Given the description of an element on the screen output the (x, y) to click on. 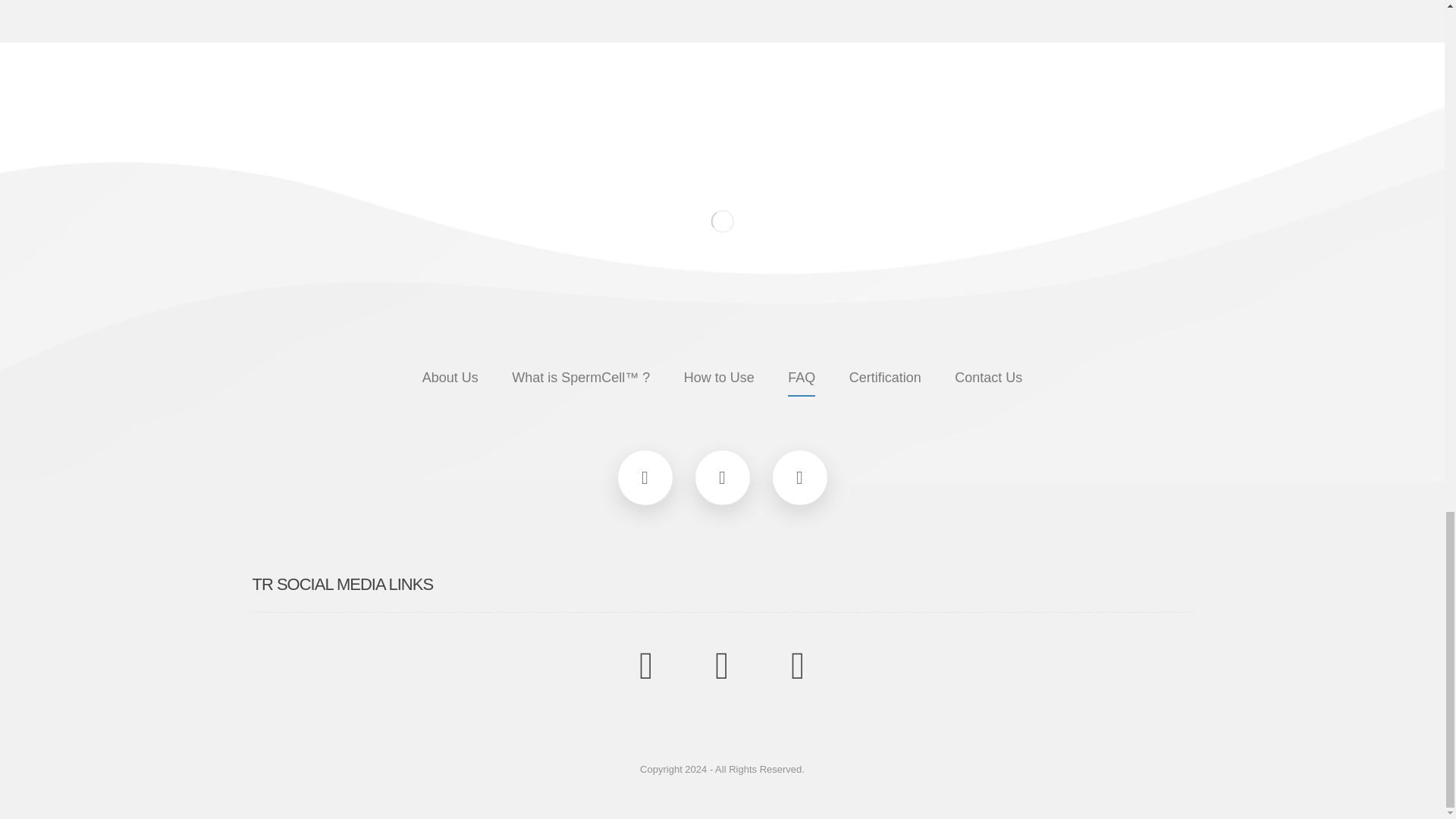
Twitter (721, 477)
Certification (884, 379)
Instagram (799, 477)
How to Use (719, 379)
Facebook (644, 477)
Contact Us (988, 379)
About Us (450, 379)
